Given the description of an element on the screen output the (x, y) to click on. 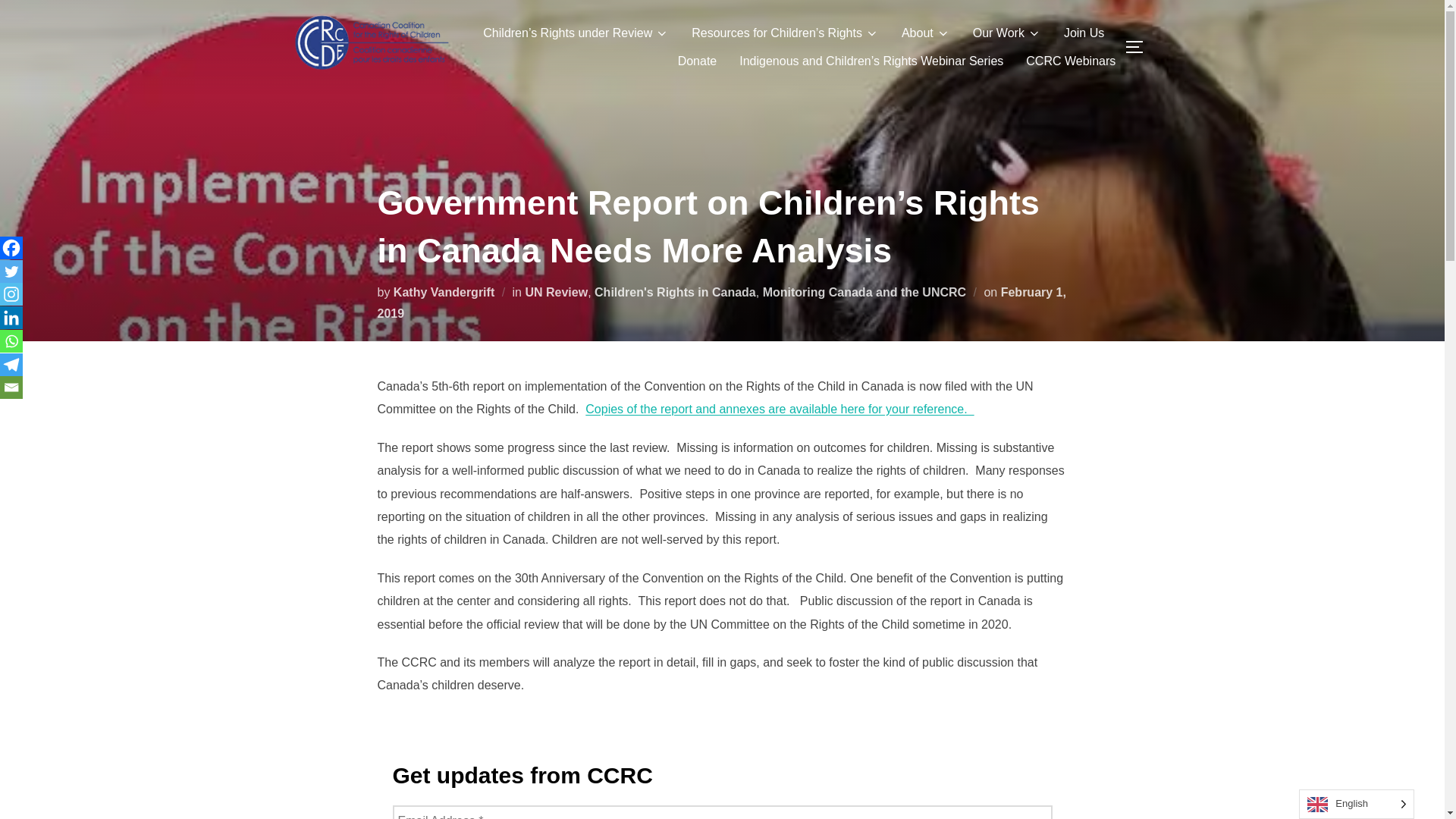
Instagram (11, 293)
Whatsapp (11, 341)
Donate (697, 61)
Facebook (11, 247)
Linkedin (11, 317)
Email (11, 386)
Telegram (11, 363)
Twitter (11, 271)
Email Address (722, 812)
